Given the description of an element on the screen output the (x, y) to click on. 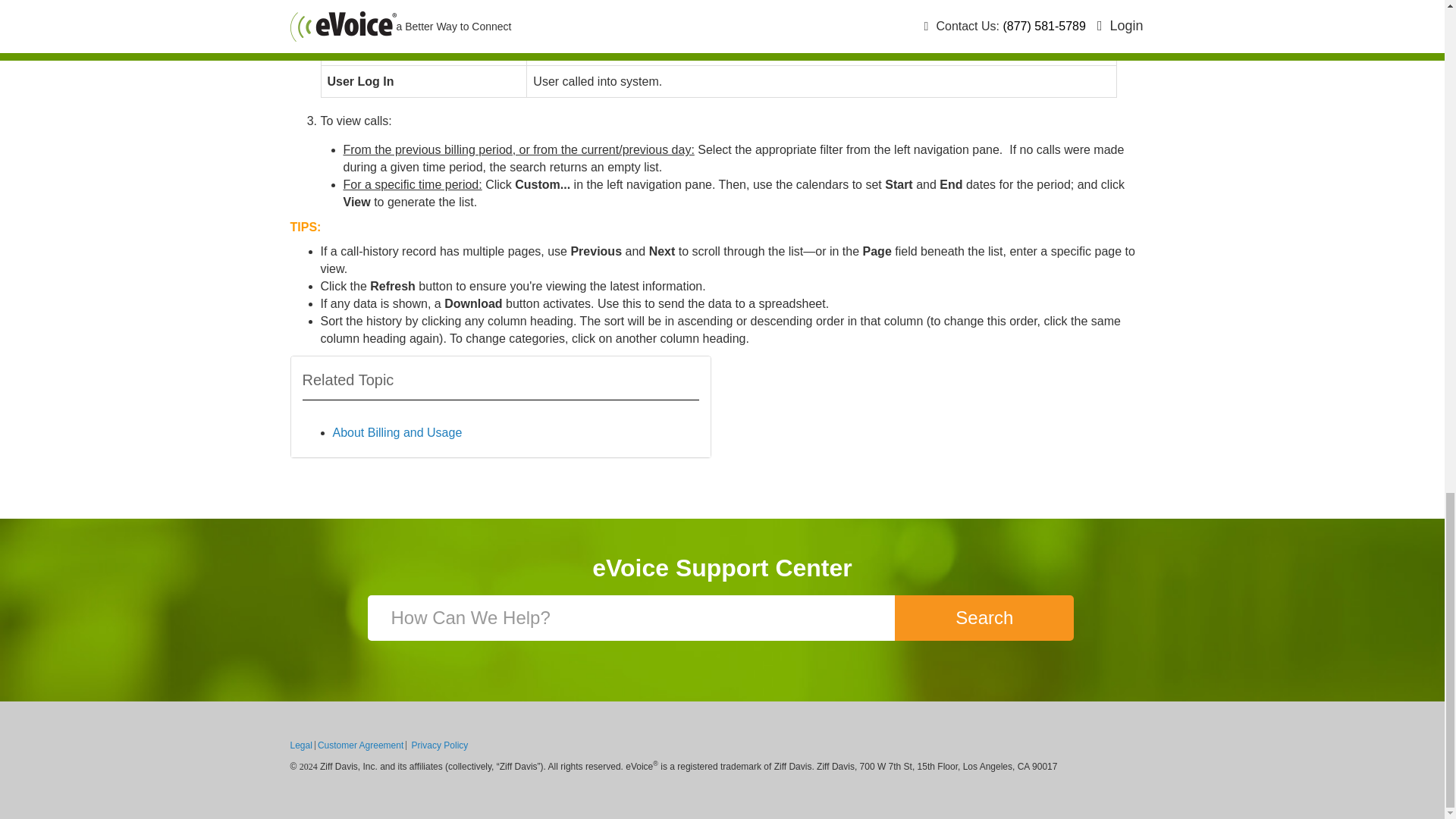
About Billing and Usage (396, 431)
Search (984, 617)
Customer Agreement (360, 745)
Privacy Policy (439, 745)
Search input (633, 617)
Legal (301, 745)
